Given the description of an element on the screen output the (x, y) to click on. 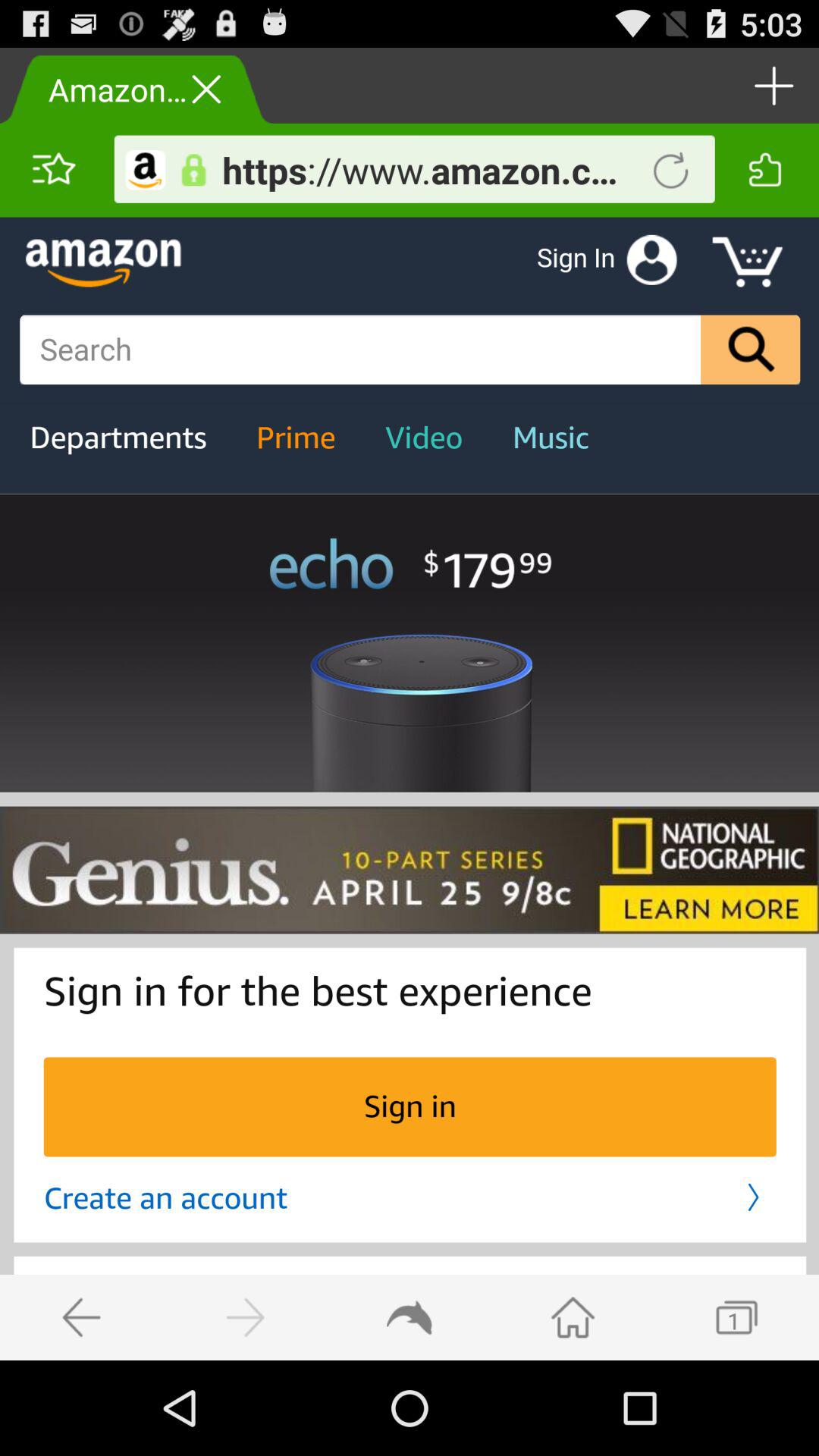
loct the file (193, 169)
